Given the description of an element on the screen output the (x, y) to click on. 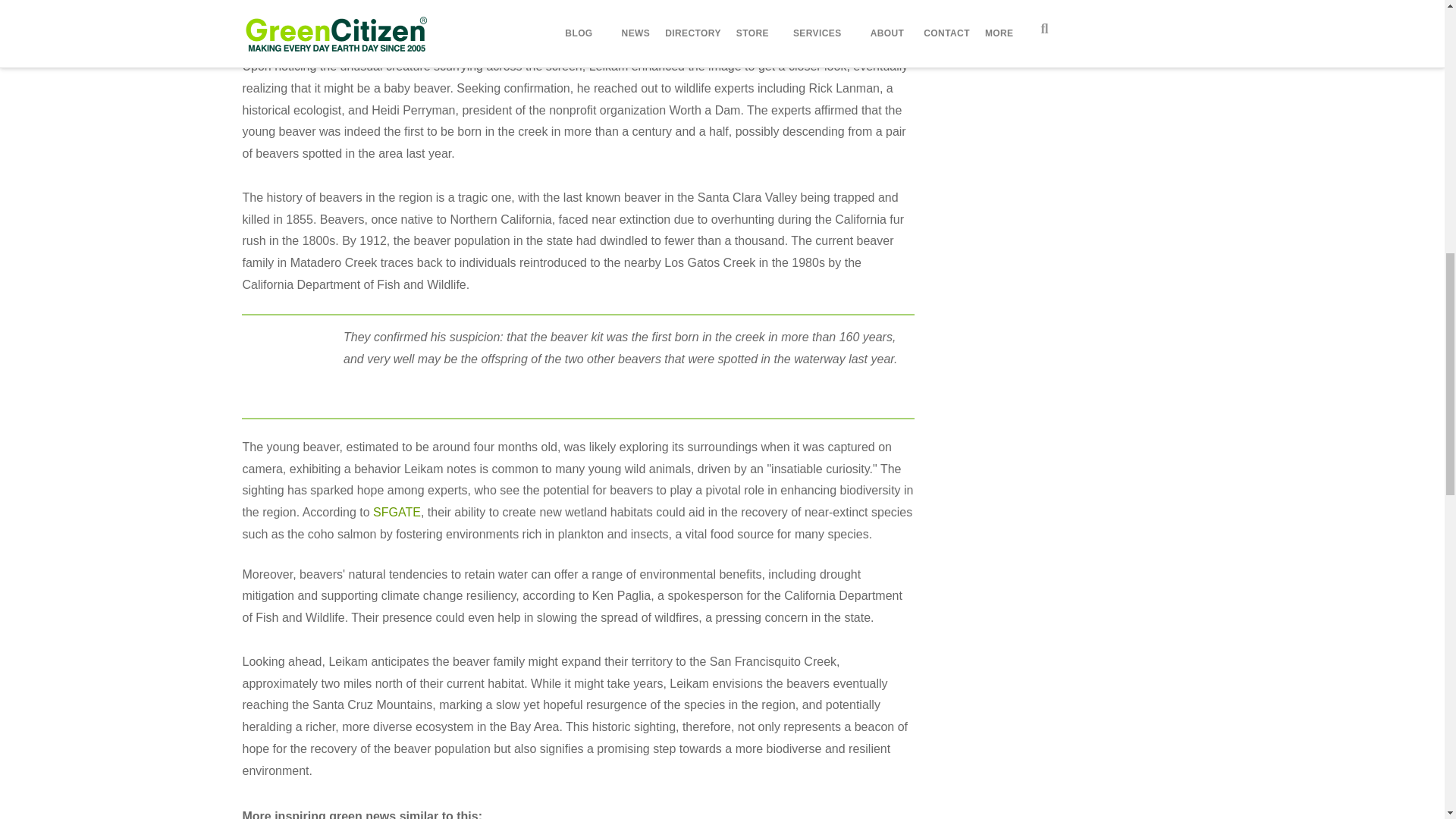
statement (286, 364)
